Given the description of an element on the screen output the (x, y) to click on. 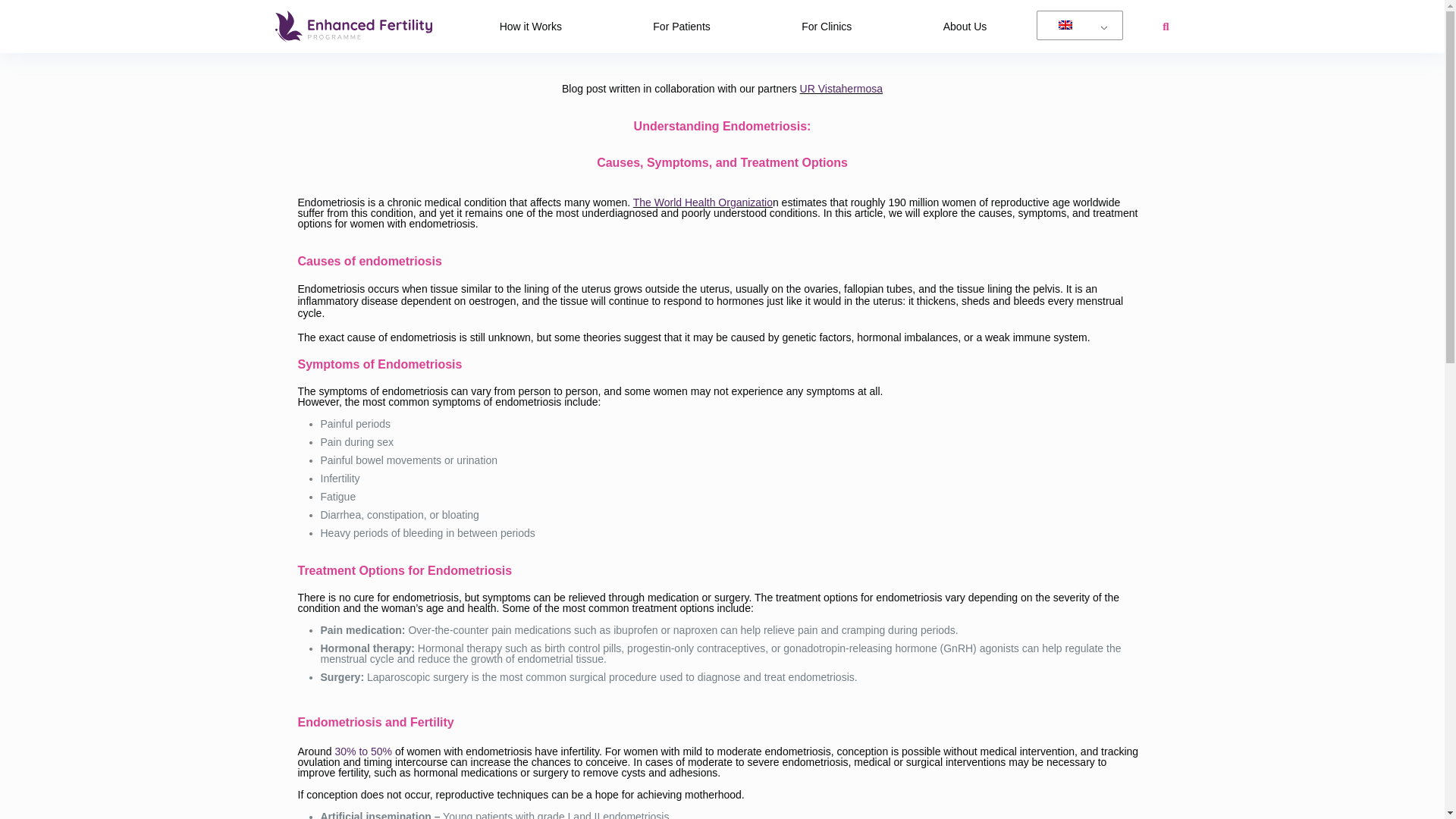
About Us (965, 26)
UR Vistahermosa (840, 88)
For Patients (681, 26)
For Clinics (826, 26)
English (1064, 24)
The World Health Organizatio (703, 202)
How it Works (531, 26)
English (1076, 25)
